Given the description of an element on the screen output the (x, y) to click on. 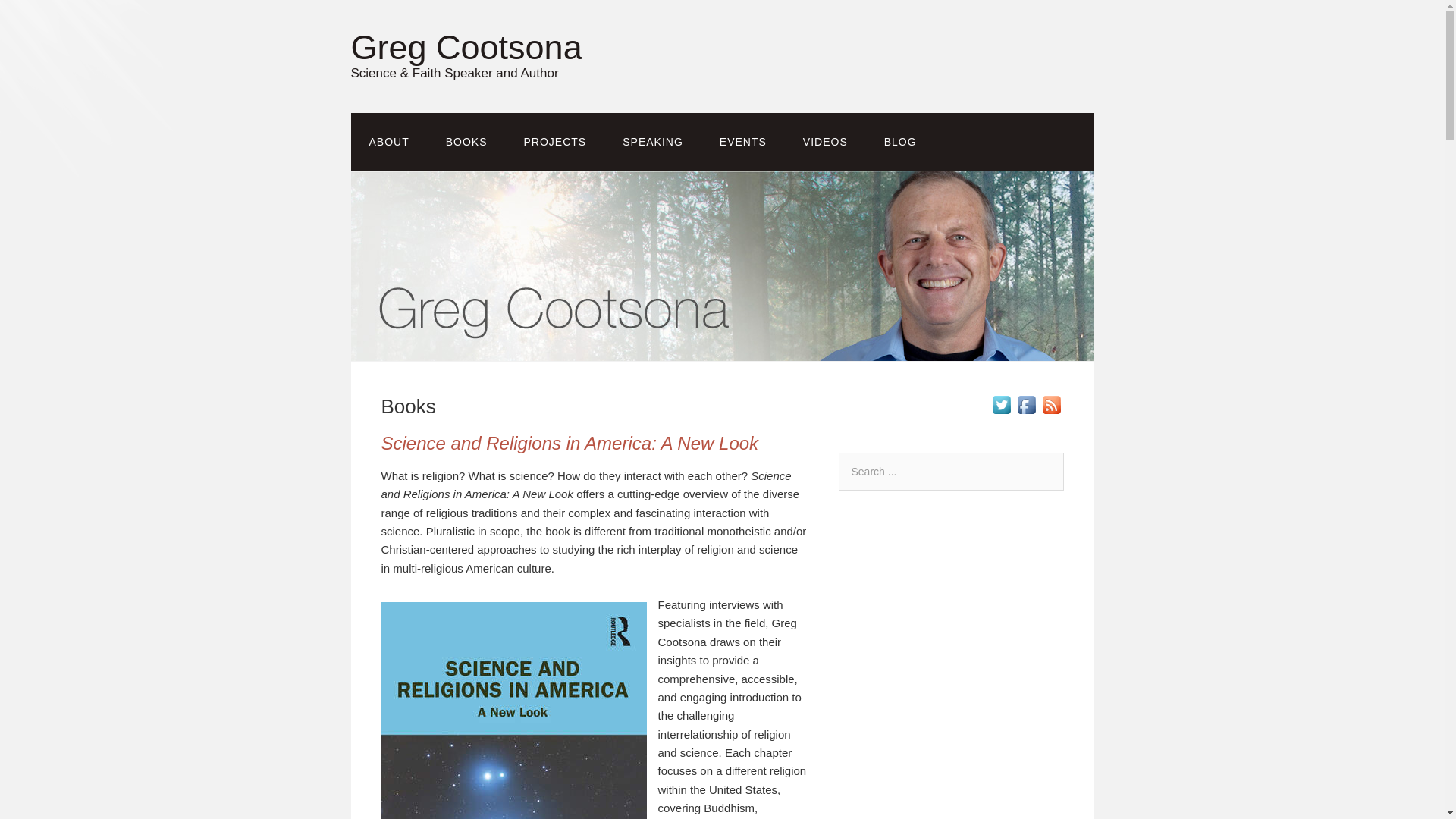
BLOG (900, 142)
Greg Cootsona (465, 46)
Visit Us On Twitter (1000, 412)
Science and Religions in America: A New Look (569, 443)
PROJECTS (555, 142)
Greg Cootsona (465, 46)
VIDEOS (825, 142)
Check Our Feed (1051, 412)
ABOUT (388, 142)
Search for: (951, 471)
Visit Us On Facebook (1025, 412)
SPEAKING (652, 142)
